Given the description of an element on the screen output the (x, y) to click on. 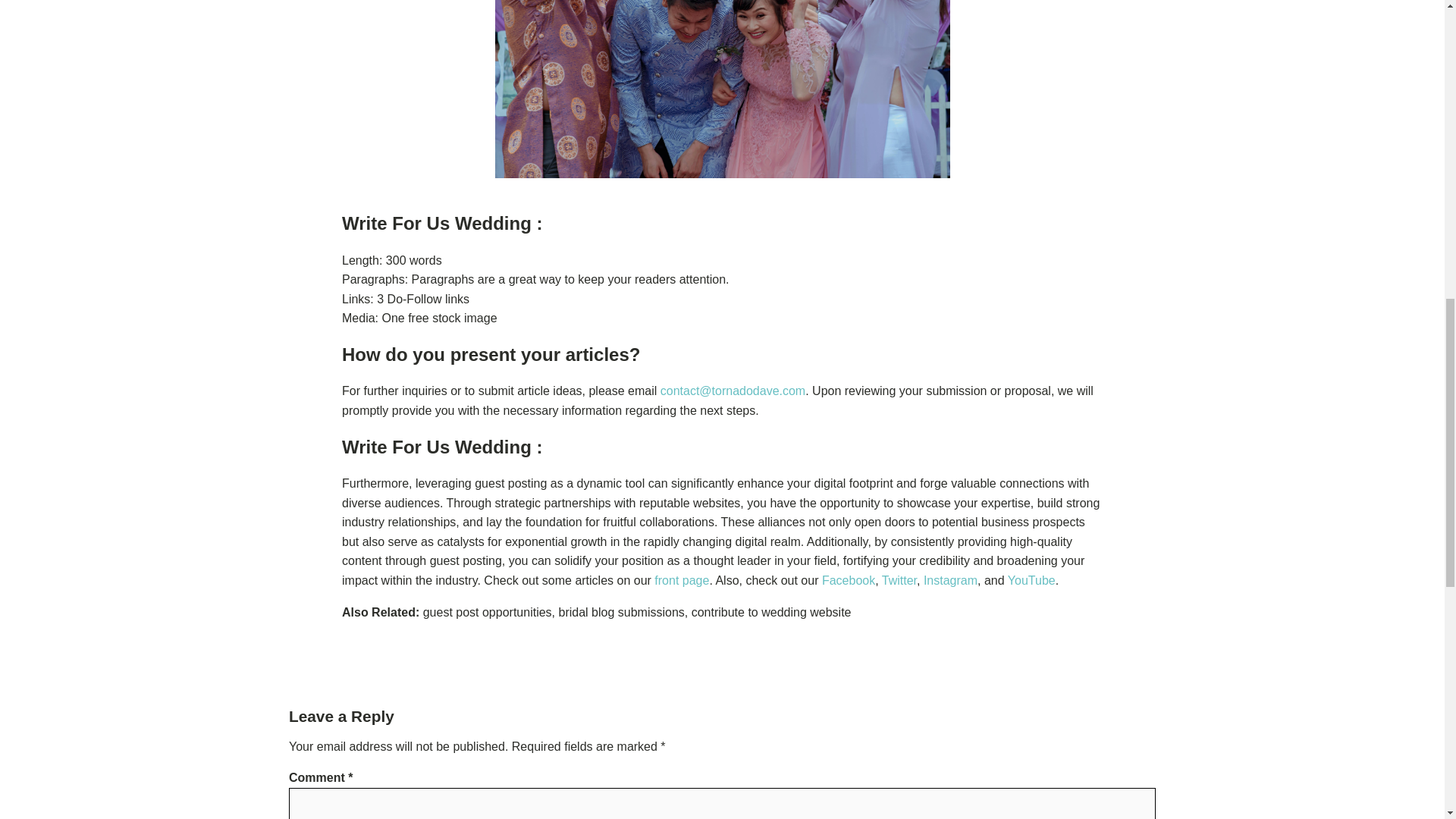
front page (681, 580)
Facebook (848, 580)
Instagram (949, 580)
Twitter (899, 580)
YouTube (1031, 580)
